Given the description of an element on the screen output the (x, y) to click on. 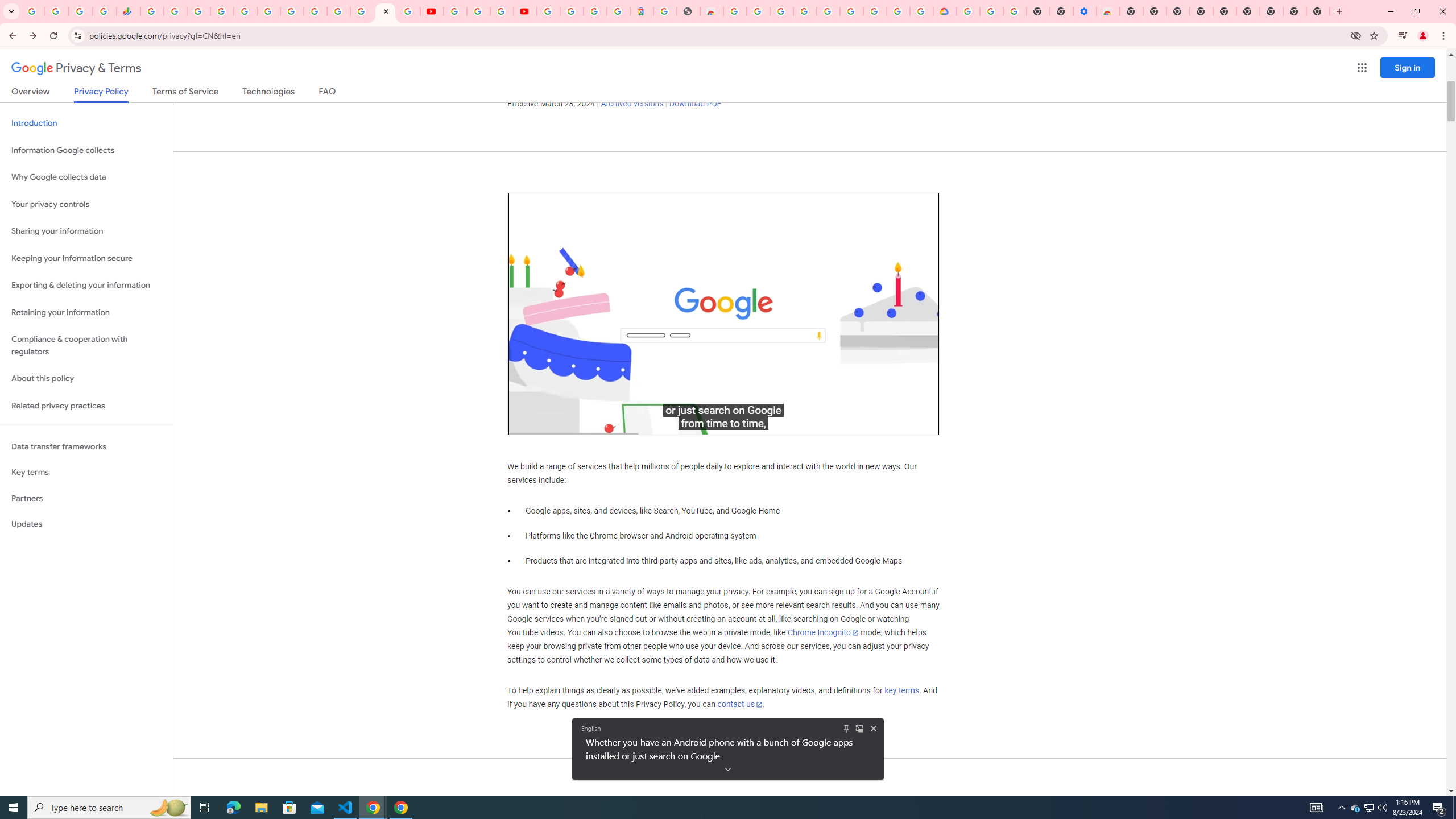
YouTube (431, 11)
Google Account Help (992, 11)
Sharing your information (86, 230)
Settings - Accessibility (1085, 11)
Copy link (909, 209)
YouTube (454, 11)
Related privacy practices (86, 405)
Chrome Incognito (823, 633)
Android TV Policies and Guidelines - Transparency Center (291, 11)
